Given the description of an element on the screen output the (x, y) to click on. 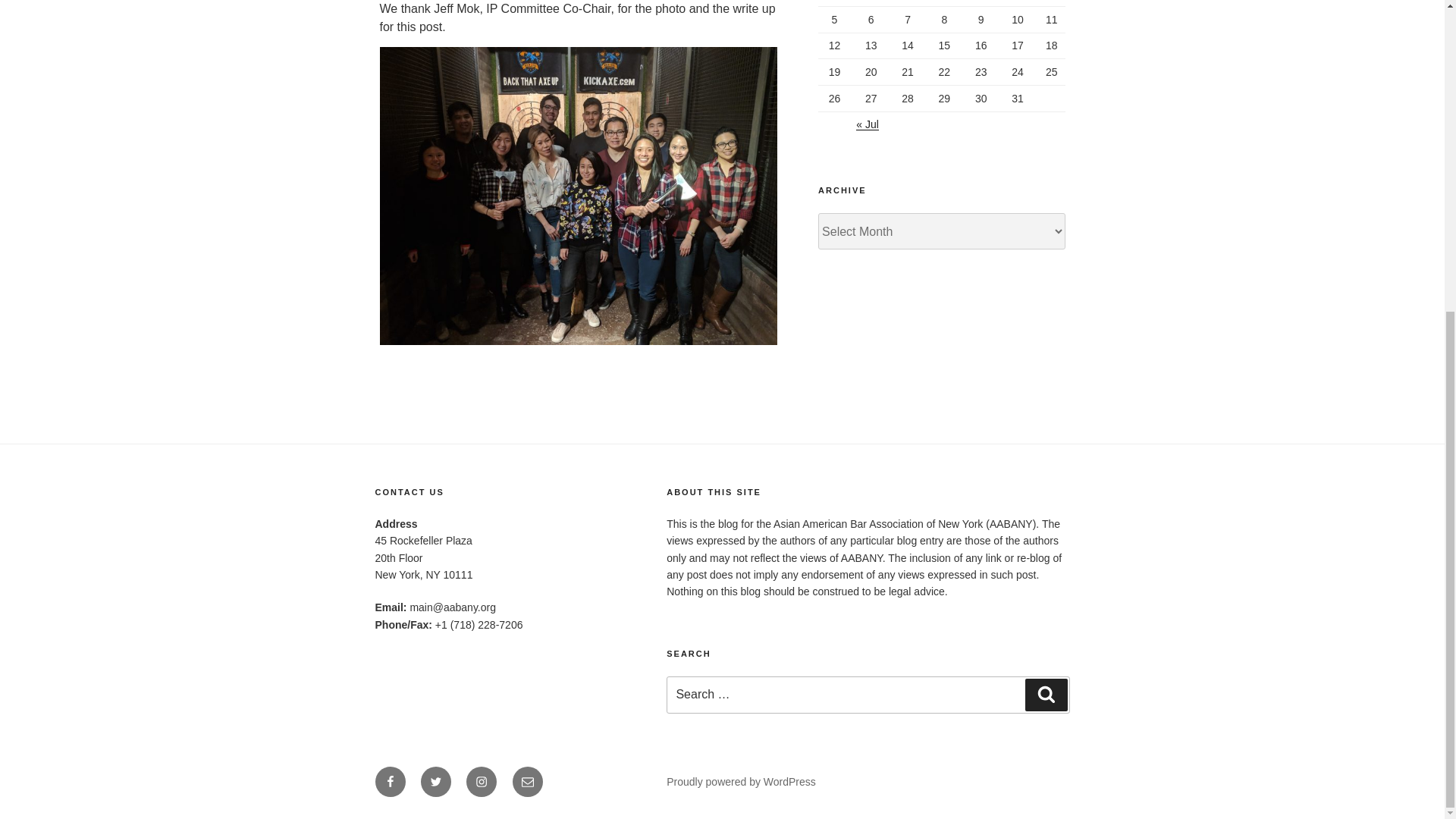
Instagram (480, 781)
Facebook (389, 781)
Proudly powered by WordPress (740, 781)
Email (527, 781)
Search (1046, 694)
Twitter (435, 781)
